Given the description of an element on the screen output the (x, y) to click on. 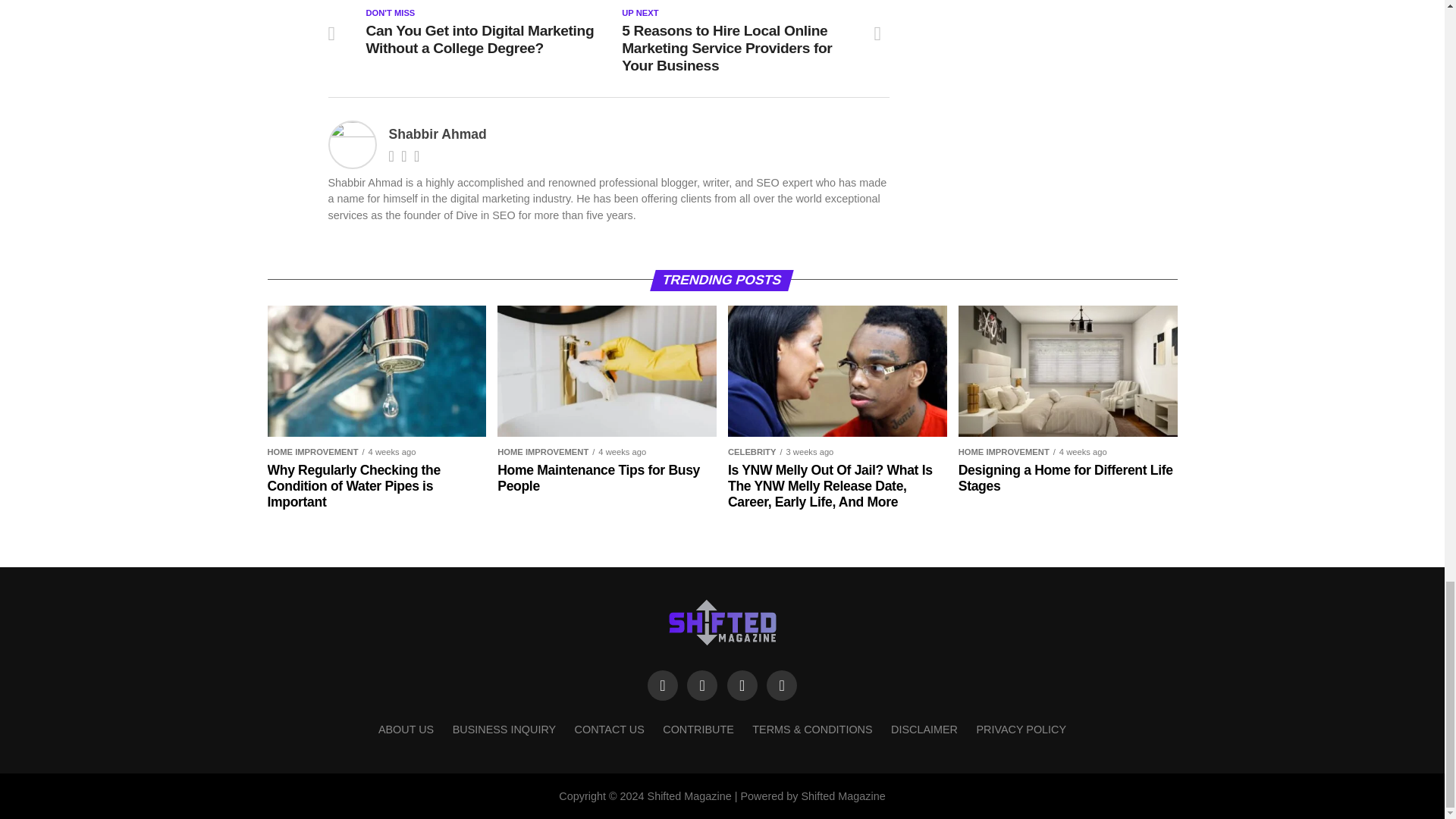
Posts by Shabbir Ahmad (437, 133)
